Given the description of an element on the screen output the (x, y) to click on. 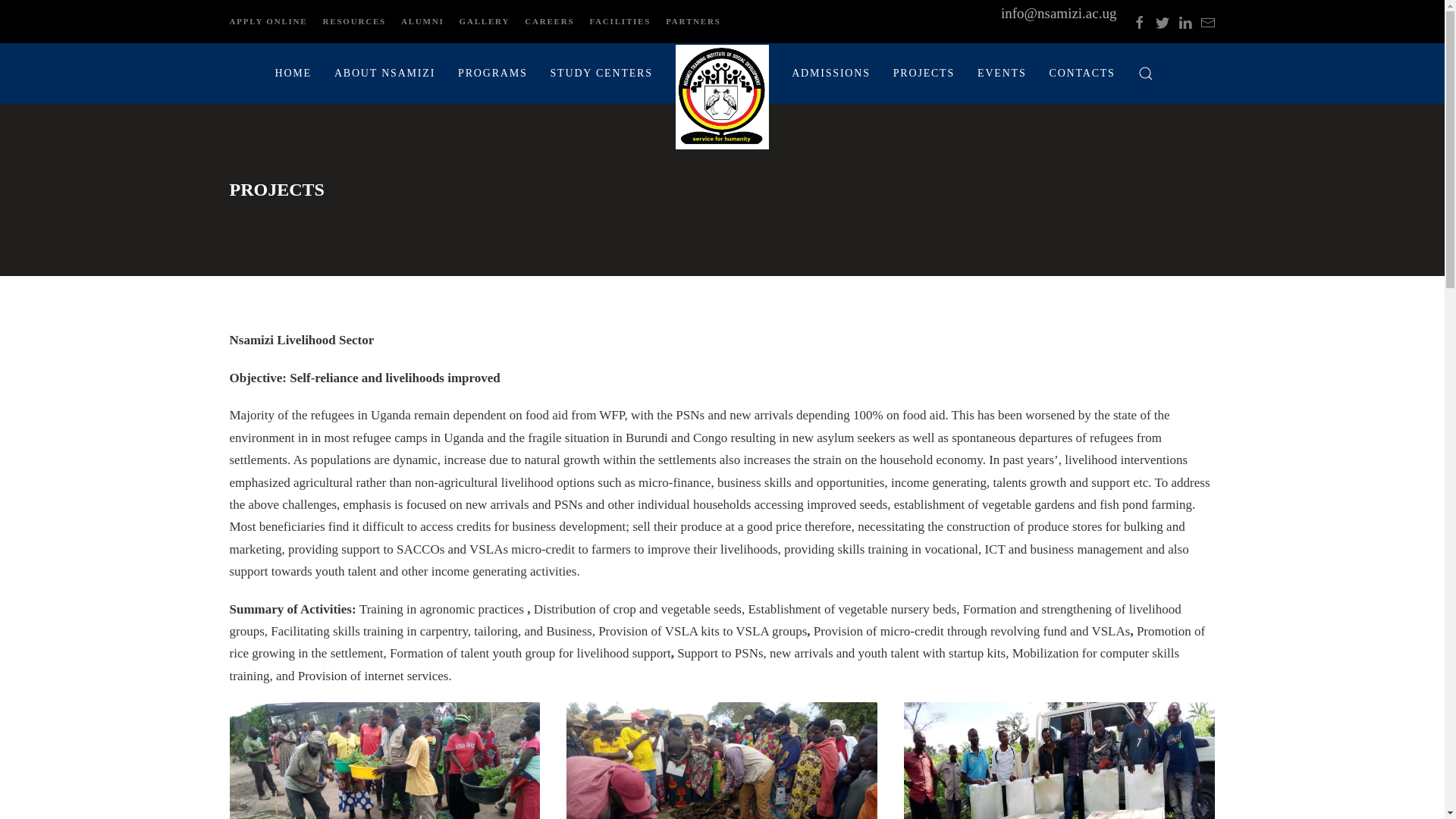
ADMISSIONS (831, 73)
PROJECTS (924, 73)
ALUMNI (422, 21)
STUDY CENTERS (600, 73)
PROGRAMS (492, 73)
APPLY ONLINE (267, 21)
ABOUT NSAMIZI (384, 73)
CAREERS (548, 21)
GALLERY (485, 21)
FACILITIES (619, 21)
HOME (292, 73)
PARTNERS (692, 21)
RESOURCES (354, 21)
